Given the description of an element on the screen output the (x, y) to click on. 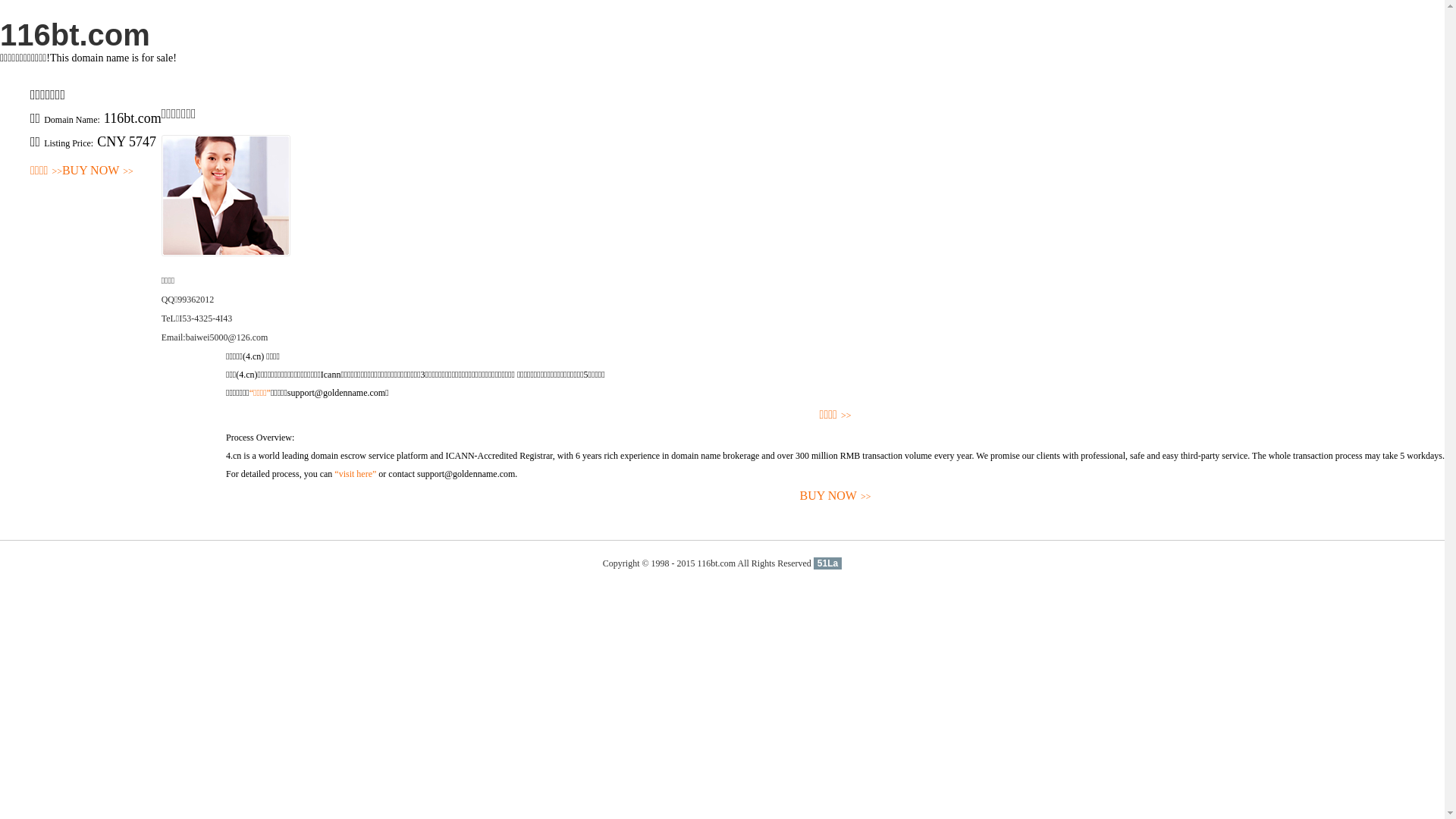
51La Element type: text (827, 563)
BUY NOW>> Element type: text (834, 496)
BUY NOW>> Element type: text (97, 170)
